Given the description of an element on the screen output the (x, y) to click on. 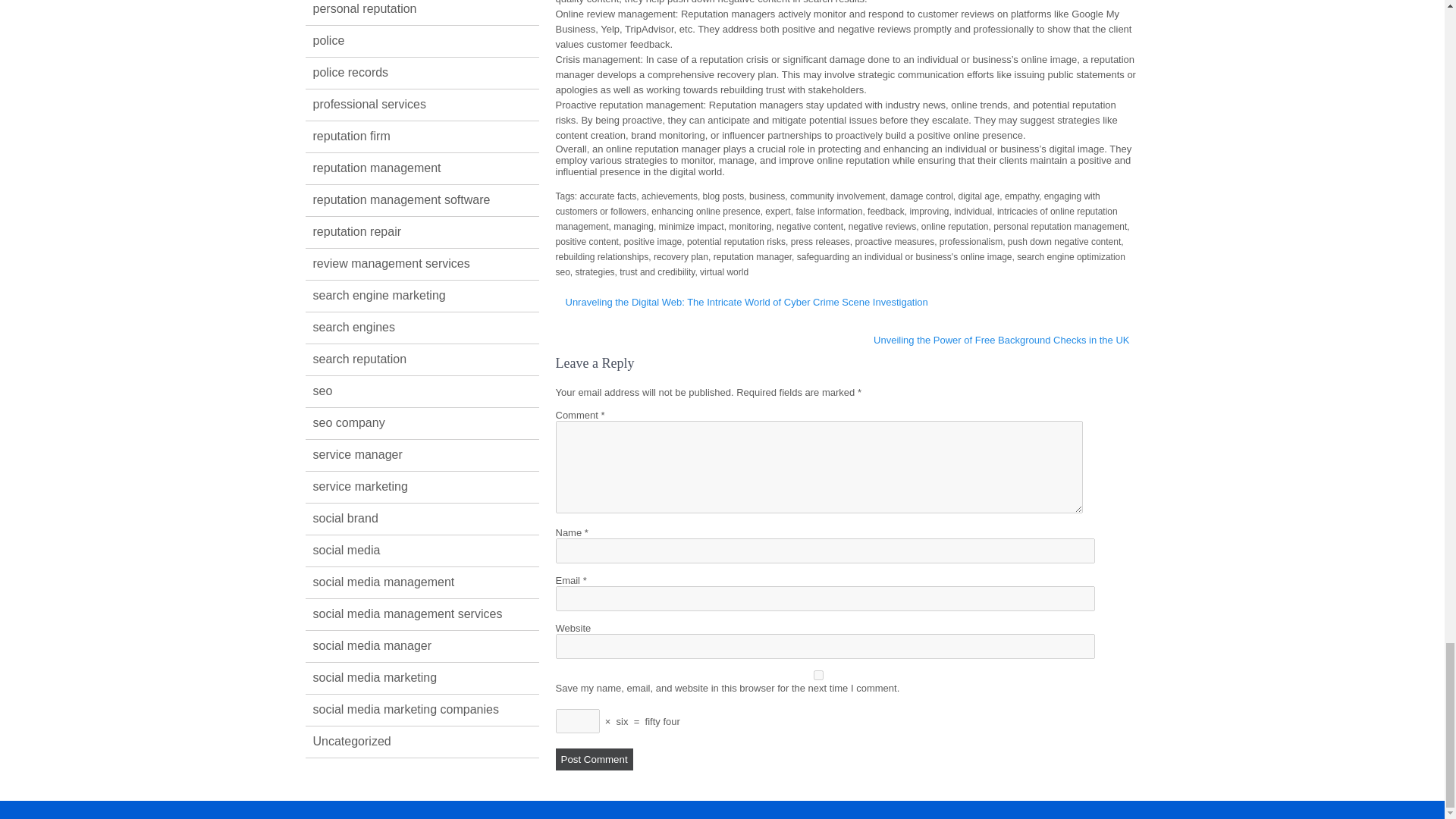
accurate facts (608, 195)
yes (817, 675)
positive content (585, 241)
positive image (653, 241)
engaging with customers or followers (826, 203)
monitoring (750, 226)
minimize impact (691, 226)
Post Comment (592, 759)
blog posts (723, 195)
personal reputation management (1059, 226)
damage control (921, 195)
potential reputation risks (736, 241)
online reputation (954, 226)
empathy (1021, 195)
false information (827, 211)
